Given the description of an element on the screen output the (x, y) to click on. 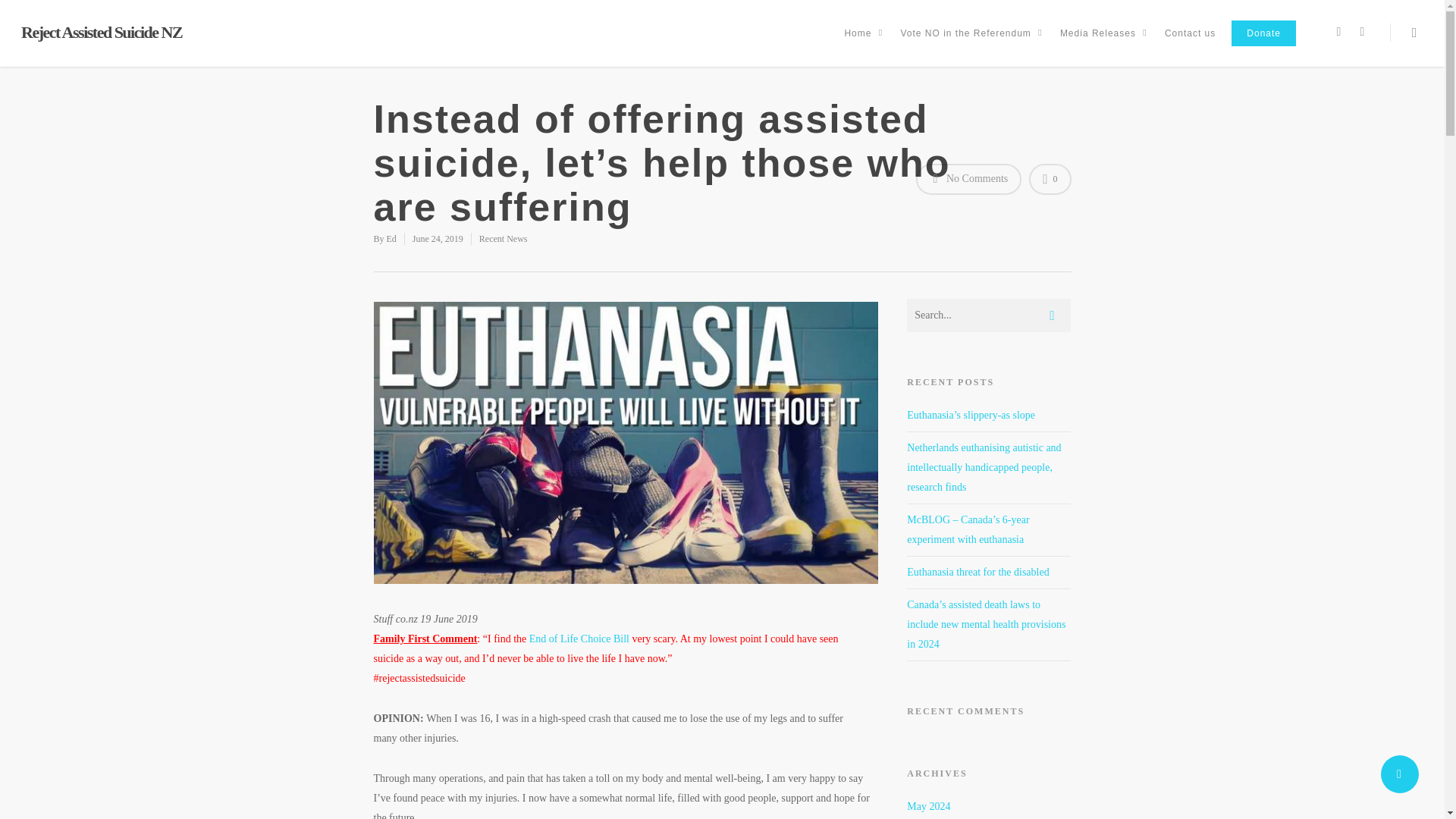
Contact us (1190, 43)
0 (1049, 178)
No Comments (968, 178)
Donate (1263, 43)
Recent News (503, 238)
May 2024 (928, 806)
Search for: (988, 315)
Vote NO in the Referendum (970, 43)
End of Life Choice Bill (578, 638)
Media Releases (1104, 43)
Posts by Ed (391, 238)
Home (863, 43)
Ed (391, 238)
Reject Assisted Suicide NZ (101, 32)
